Given the description of an element on the screen output the (x, y) to click on. 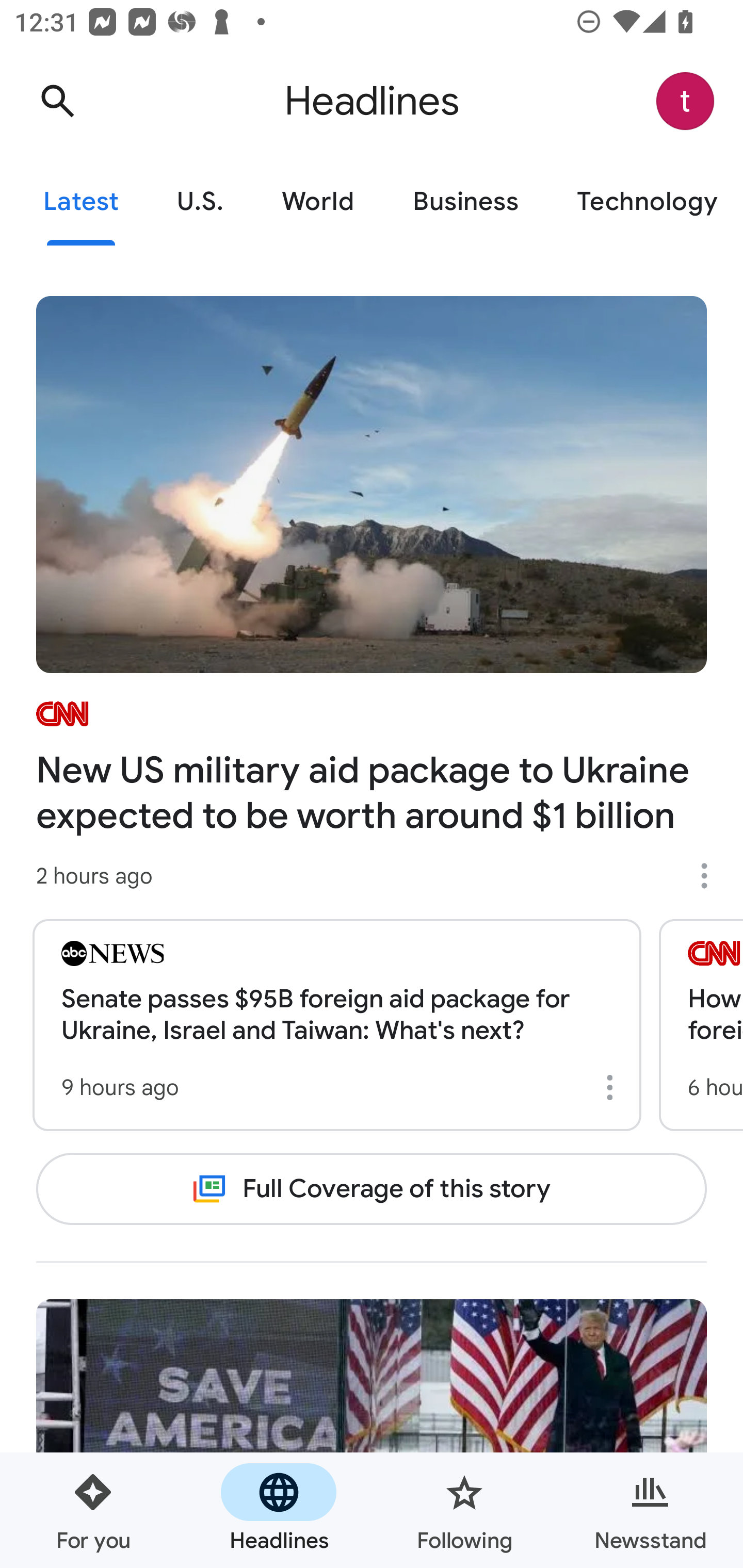
Search (57, 100)
U.S. (199, 202)
World (317, 202)
Business (465, 202)
Technology (645, 202)
More options (711, 875)
More options (613, 1086)
Full Coverage of this story (371, 1188)
For you (92, 1509)
Headlines (278, 1509)
Following (464, 1509)
Newsstand (650, 1509)
